Given the description of an element on the screen output the (x, y) to click on. 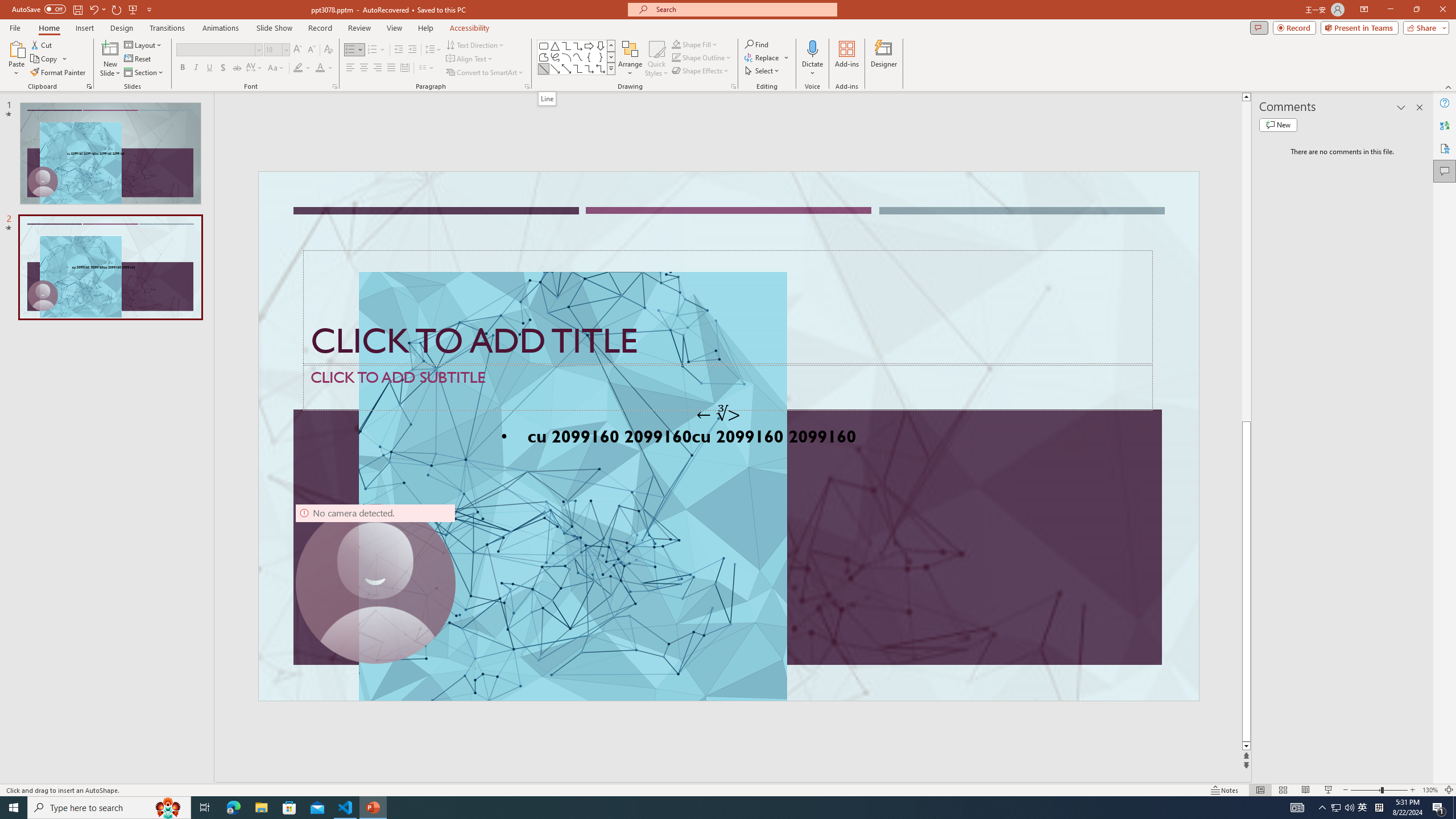
Paste (16, 58)
Slide Show (1328, 790)
Font Size (273, 49)
Format Painter (58, 72)
Shape Fill (694, 44)
Translator (1444, 125)
Format Object... (733, 85)
Shape Outline (701, 56)
Close pane (1419, 107)
Connector: Elbow (577, 68)
Animations (220, 28)
Bullets (354, 49)
New comment (1278, 124)
